Given the description of an element on the screen output the (x, y) to click on. 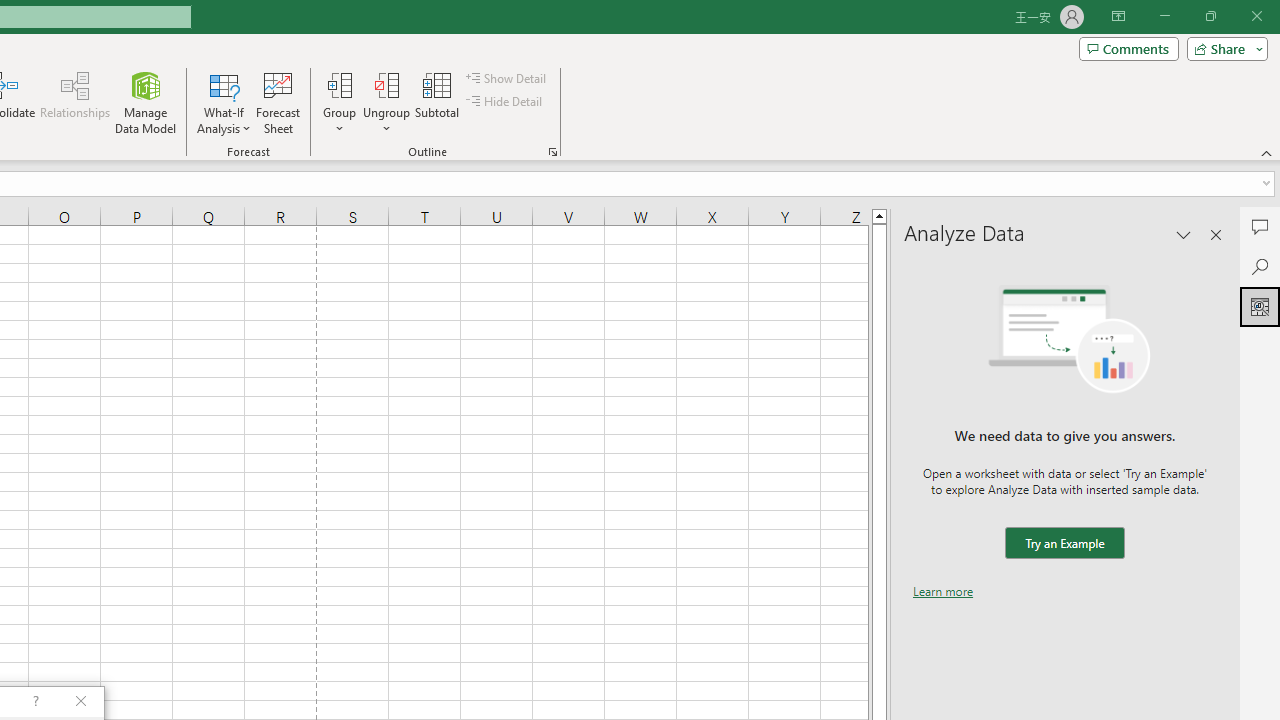
Learn more (943, 591)
Comments (1128, 48)
Minimize (1164, 16)
Hide Detail (505, 101)
Group... (339, 102)
What-If Analysis (223, 102)
Ungroup... (386, 84)
Show Detail (507, 78)
We need data to give you answers. Try an Example (1064, 543)
Forecast Sheet (278, 102)
Task Pane Options (1183, 234)
Group and Outline Settings (552, 151)
Ungroup... (386, 102)
